Given the description of an element on the screen output the (x, y) to click on. 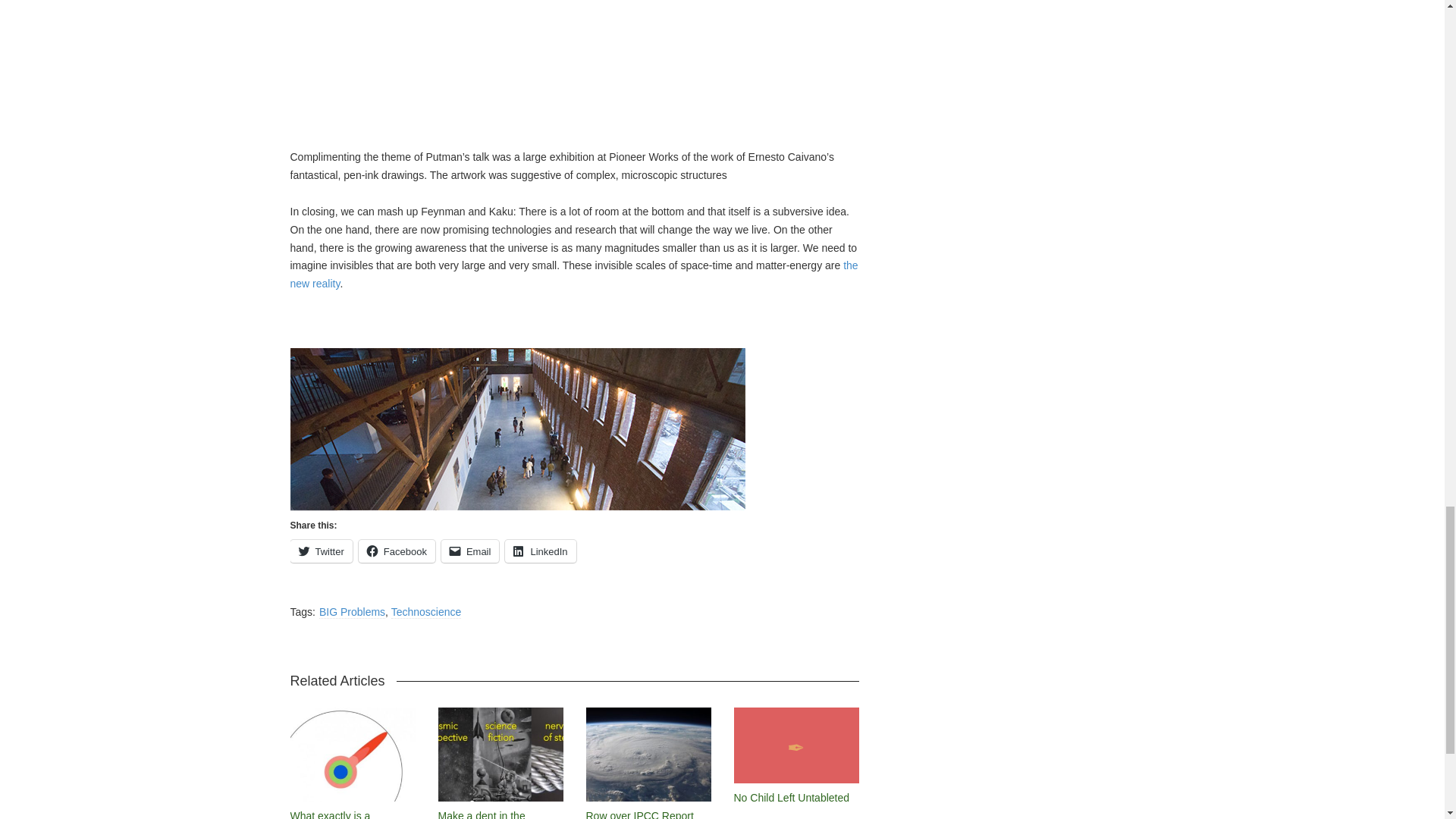
Facebook (396, 550)
Permanent Link to What exactly is a doctorate? (329, 814)
Click to share on LinkedIn (540, 550)
Email (470, 550)
Click to share on Facebook (396, 550)
BIG Problems (351, 612)
LinkedIn (540, 550)
Twitter (320, 550)
Permanent Link to Row over IPCC Report (639, 814)
Click to share on Twitter (320, 550)
Click to email a link to a friend (470, 550)
Permanent Link to Make a dent in the universe: Erika Iives (485, 814)
Permanent Link to No Child Left Untableted (791, 797)
the new reality (573, 274)
